Given the description of an element on the screen output the (x, y) to click on. 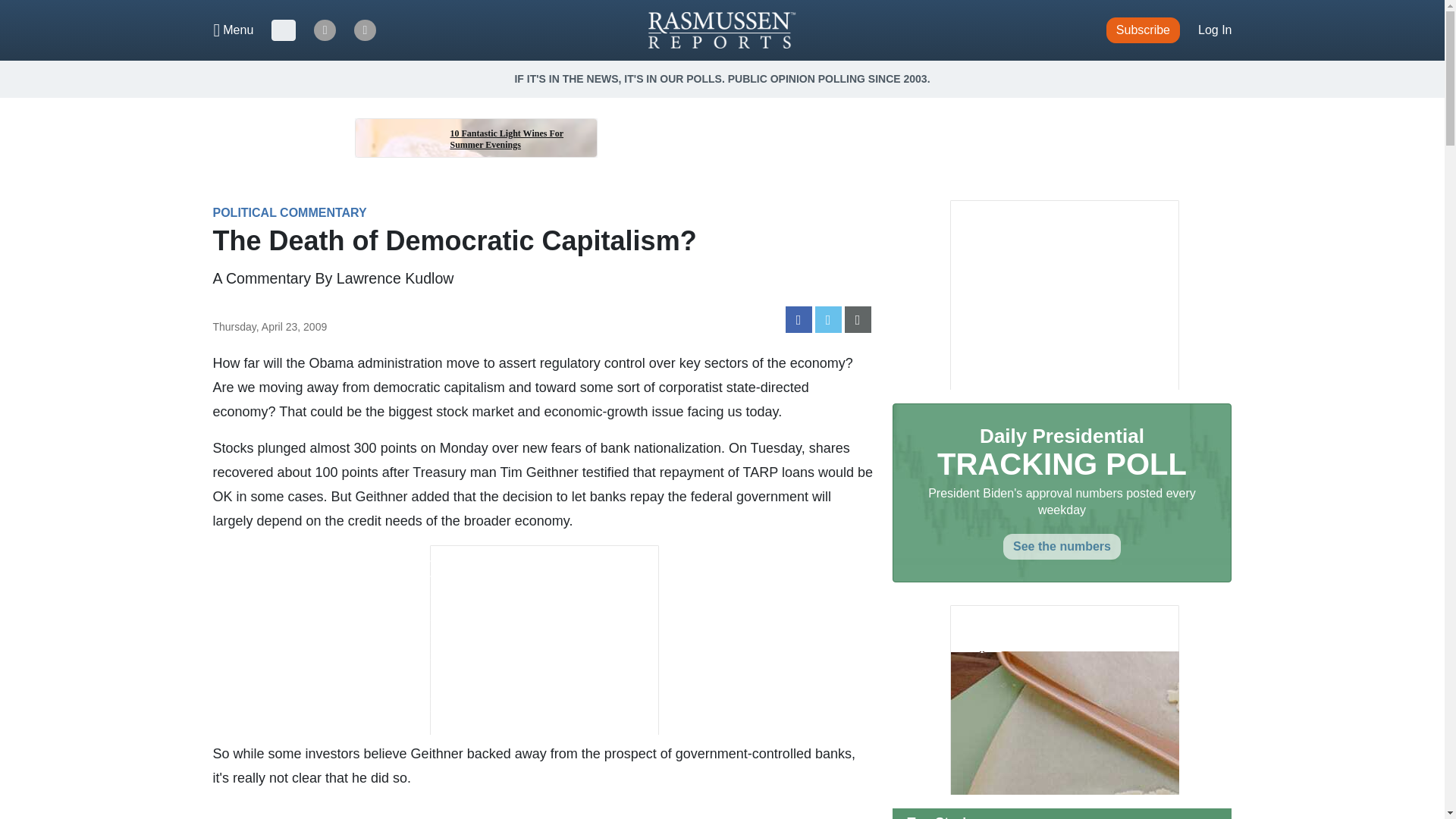
Menu (234, 30)
POLITICAL COMMENTARY (289, 212)
Subscribe (1142, 30)
Log In (1214, 30)
